Given the description of an element on the screen output the (x, y) to click on. 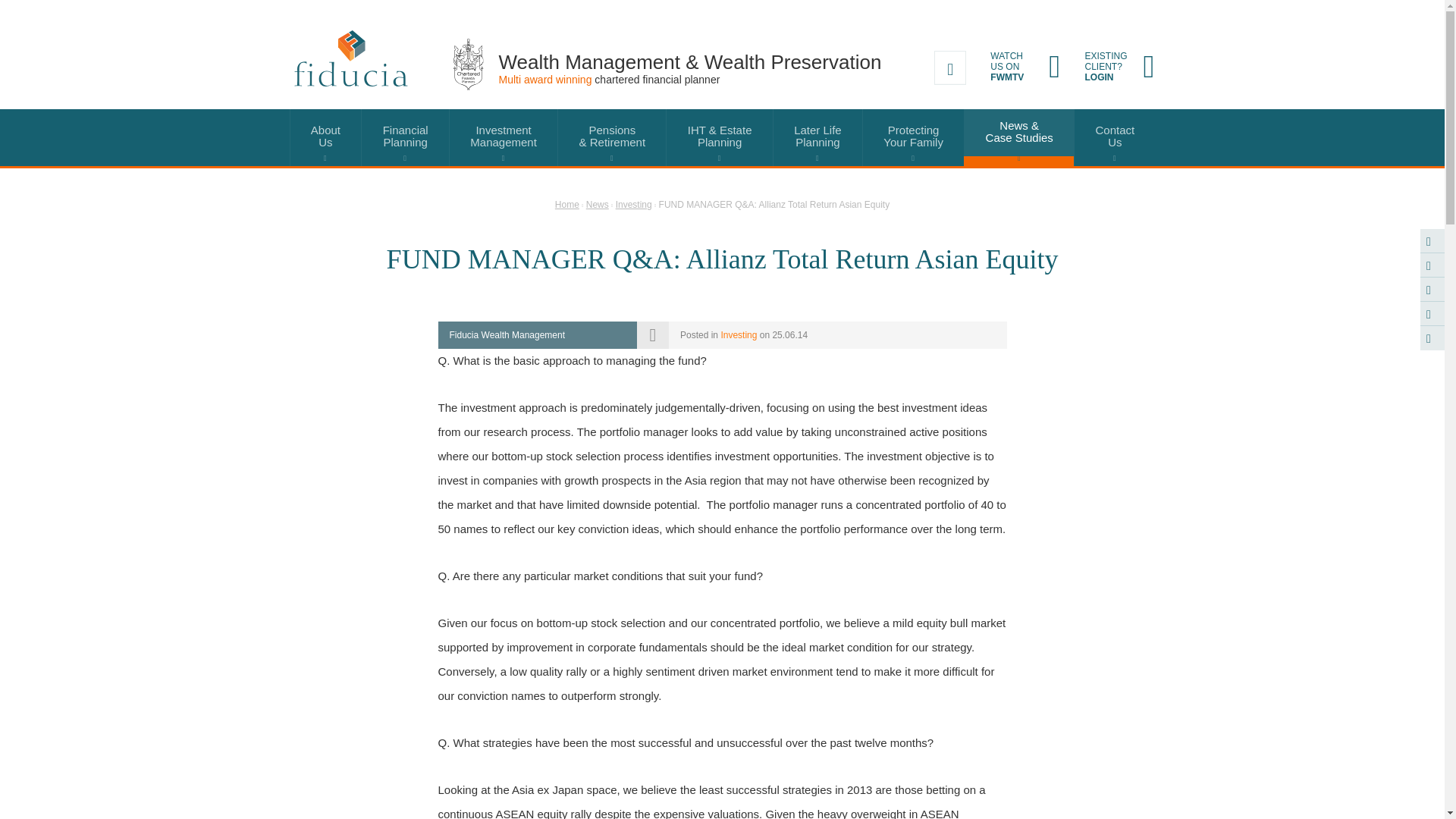
About Fiducia (817, 137)
WATCH US ON FWMTV (325, 137)
Search for: (325, 137)
EXISTING CLIENT? LOGIN (1024, 66)
Financial Planning (950, 67)
